Given the description of an element on the screen output the (x, y) to click on. 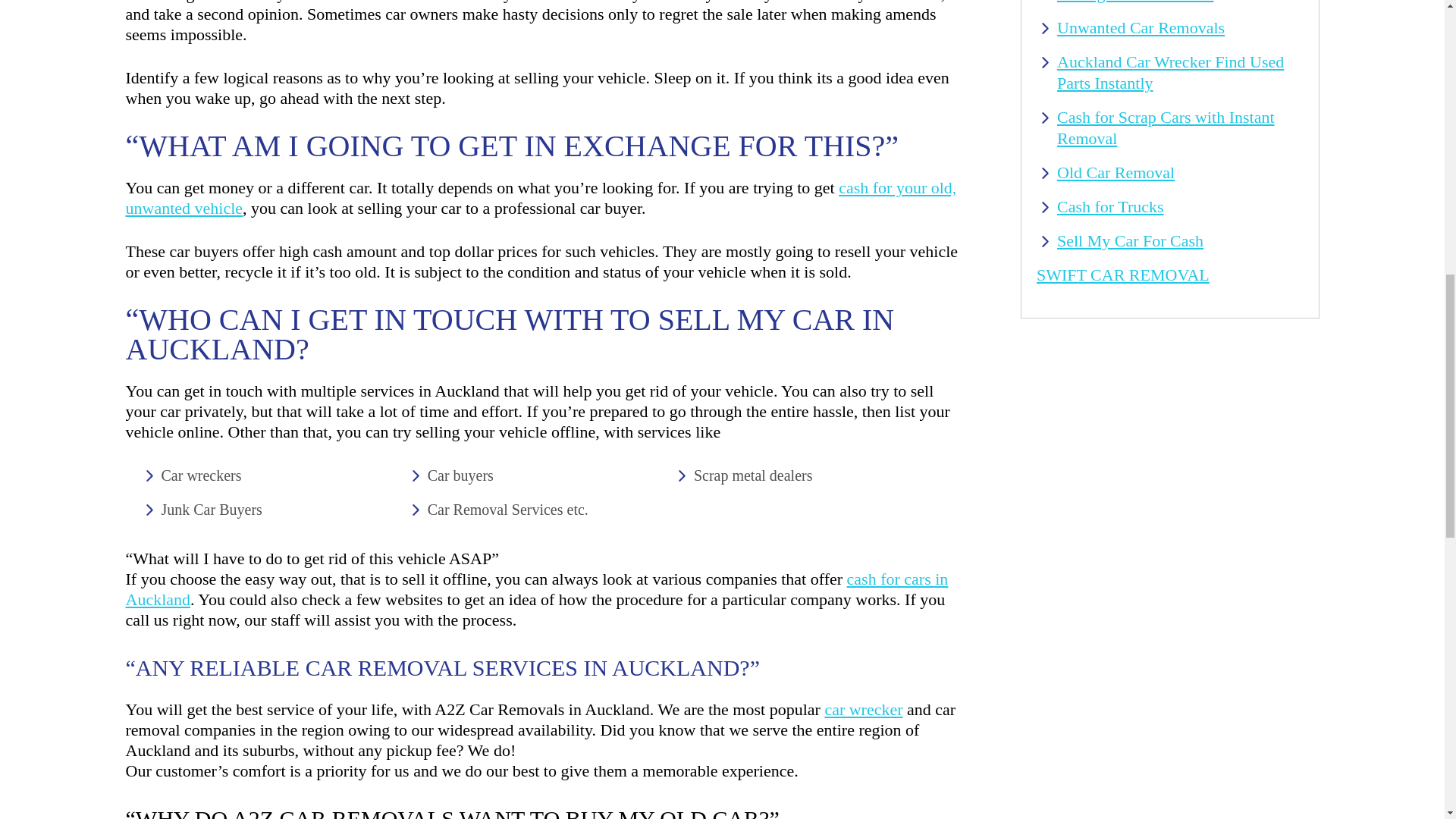
cash for your old, unwanted vehicle (540, 197)
cash for cars in Auckland (537, 589)
